Given the description of an element on the screen output the (x, y) to click on. 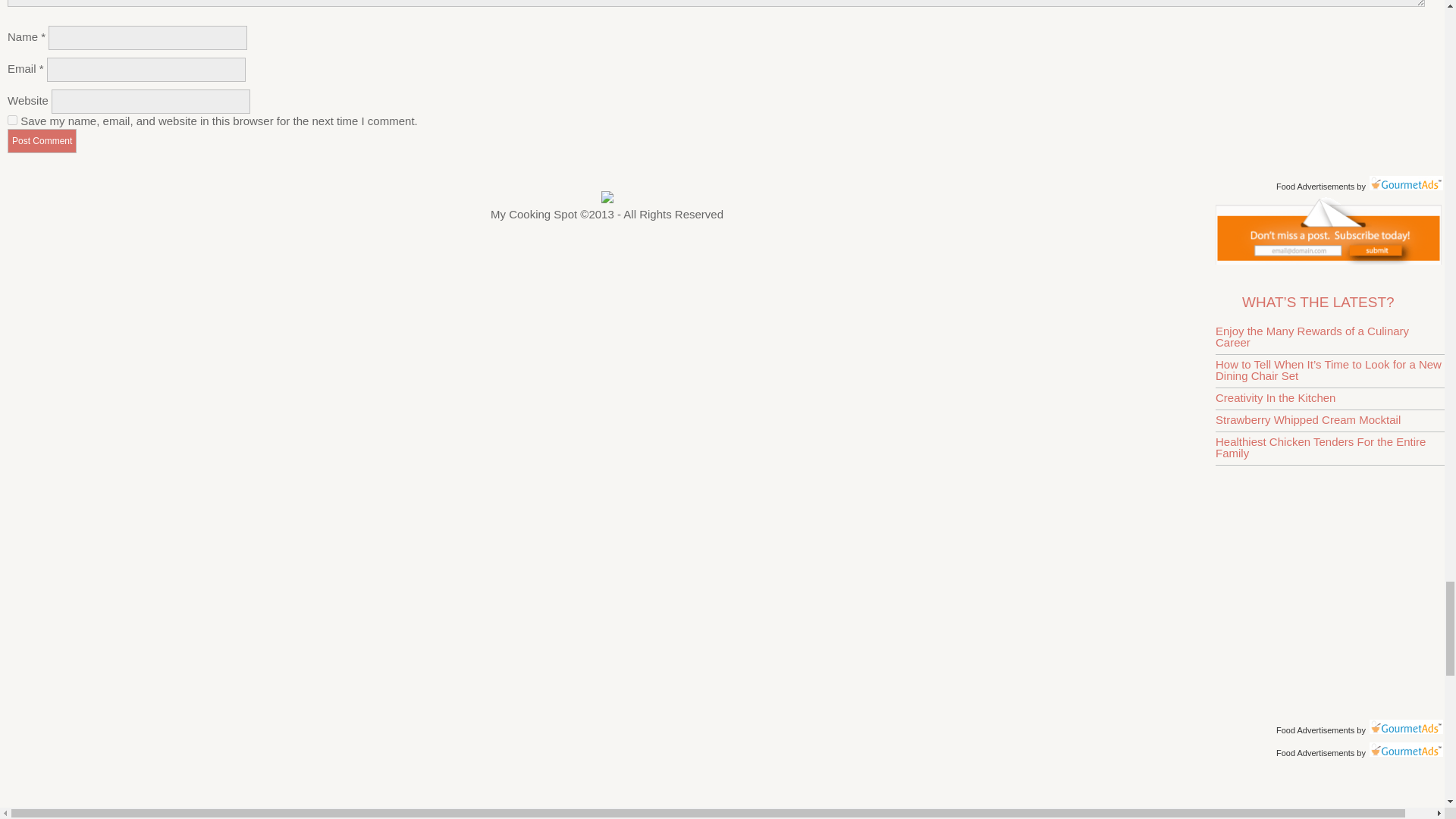
Post Comment (42, 140)
yes (12, 120)
Food Advertisements (1315, 752)
My Cooking Spot (1328, 259)
Food Advertisements (1315, 185)
Food Advertisements (1315, 729)
